Given the description of an element on the screen output the (x, y) to click on. 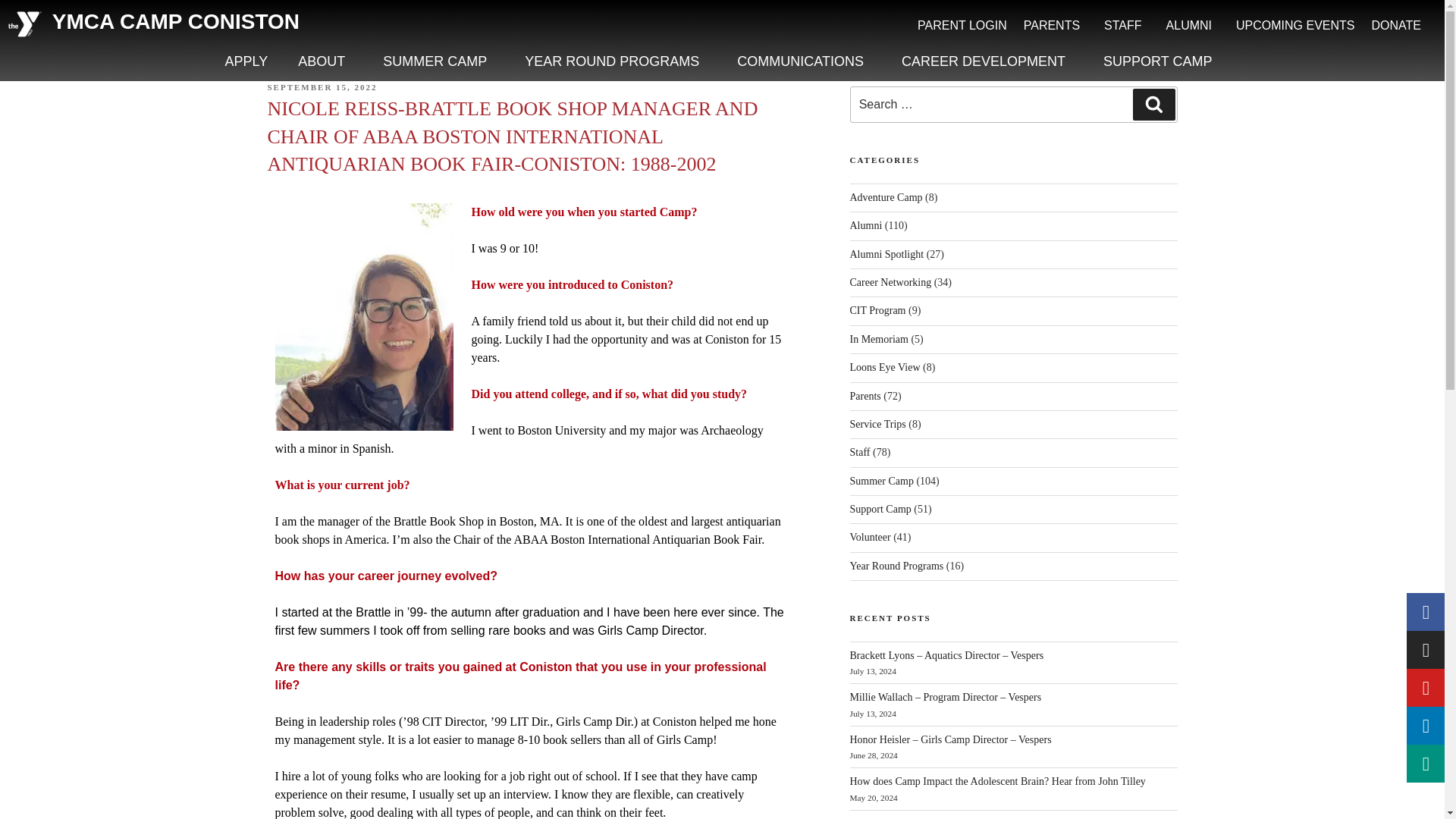
PARENTS (1055, 25)
STAFF (1126, 25)
PARENT LOGIN (961, 25)
YMCA CAMP CONISTON (175, 21)
DONATE (1395, 25)
UPCOMING EVENTS (1294, 25)
ALUMNI (1192, 25)
